Given the description of an element on the screen output the (x, y) to click on. 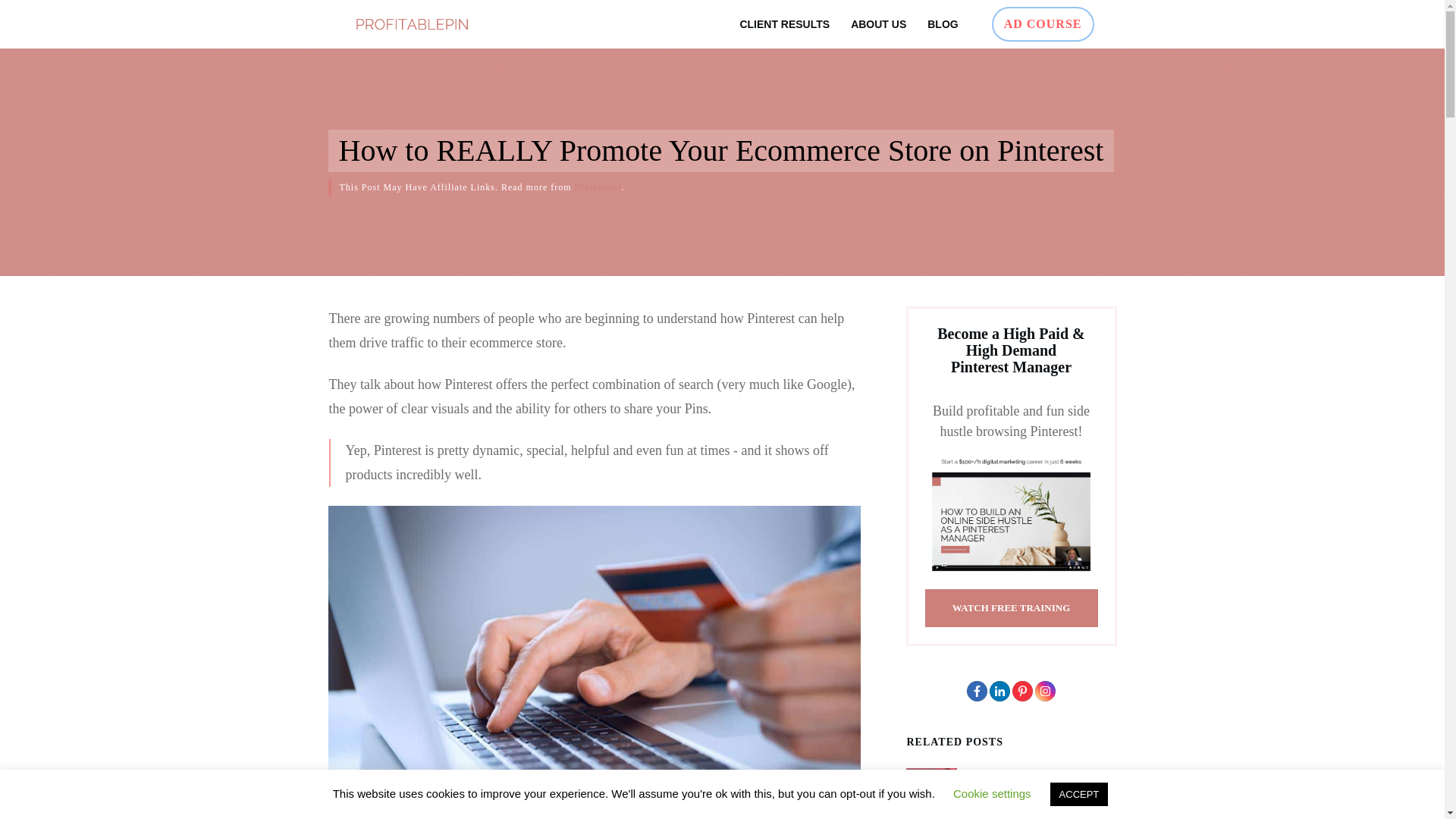
CLIENT RESULTS (784, 24)
BLOG (942, 24)
How to Use Pinterest Ads to Boost Your Business (1037, 784)
Read More (990, 814)
AD COURSE (1042, 24)
WATCH FREE TRAINING (1010, 607)
become a pinterest marketer (1010, 515)
ABOUT US (877, 24)
Cookie settings (991, 793)
How to Use Pinterest Ads to Boost Your Business (1037, 784)
Disclaimer (598, 186)
